Given the description of an element on the screen output the (x, y) to click on. 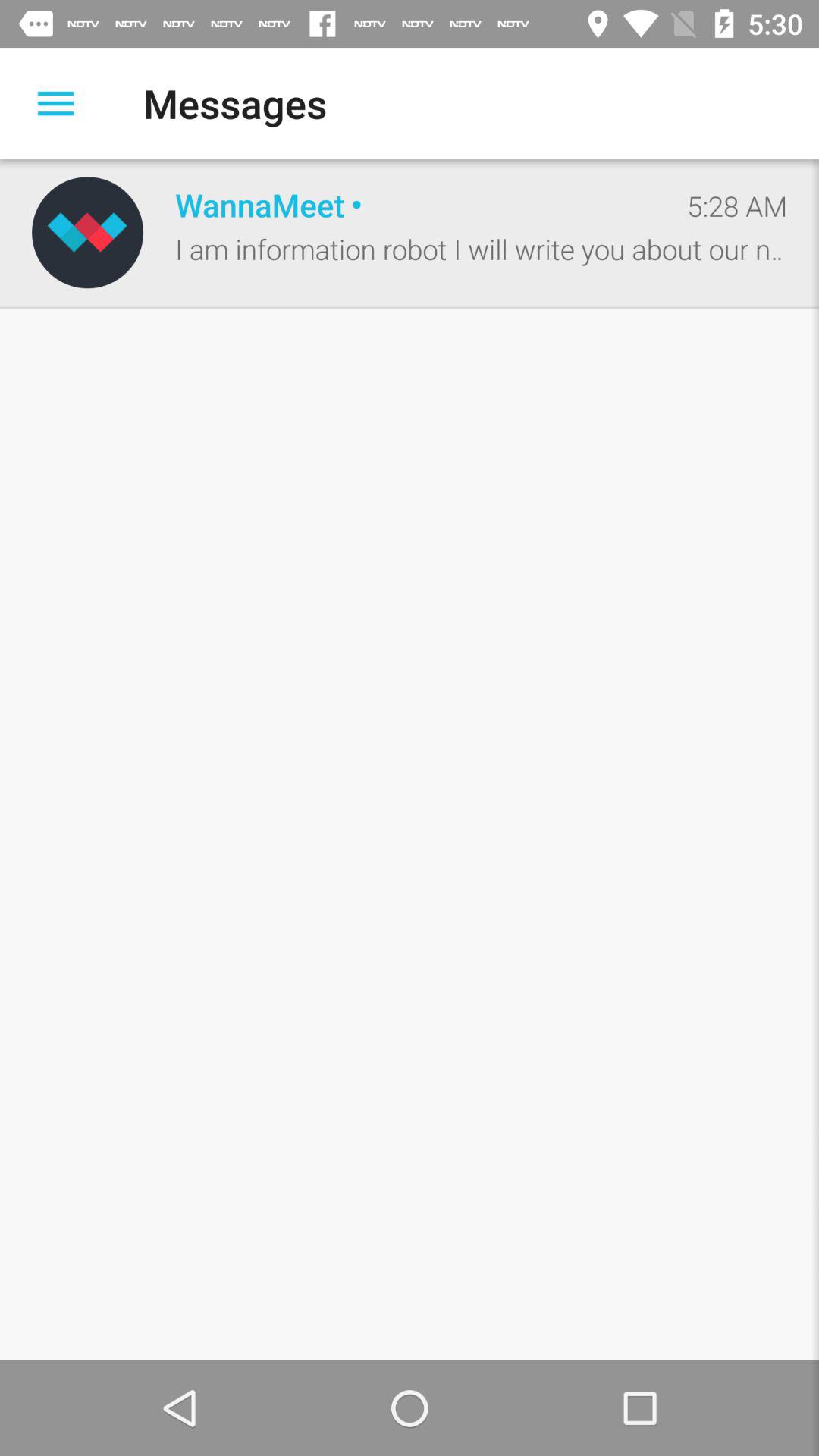
press the item next to the messages icon (55, 103)
